Given the description of an element on the screen output the (x, y) to click on. 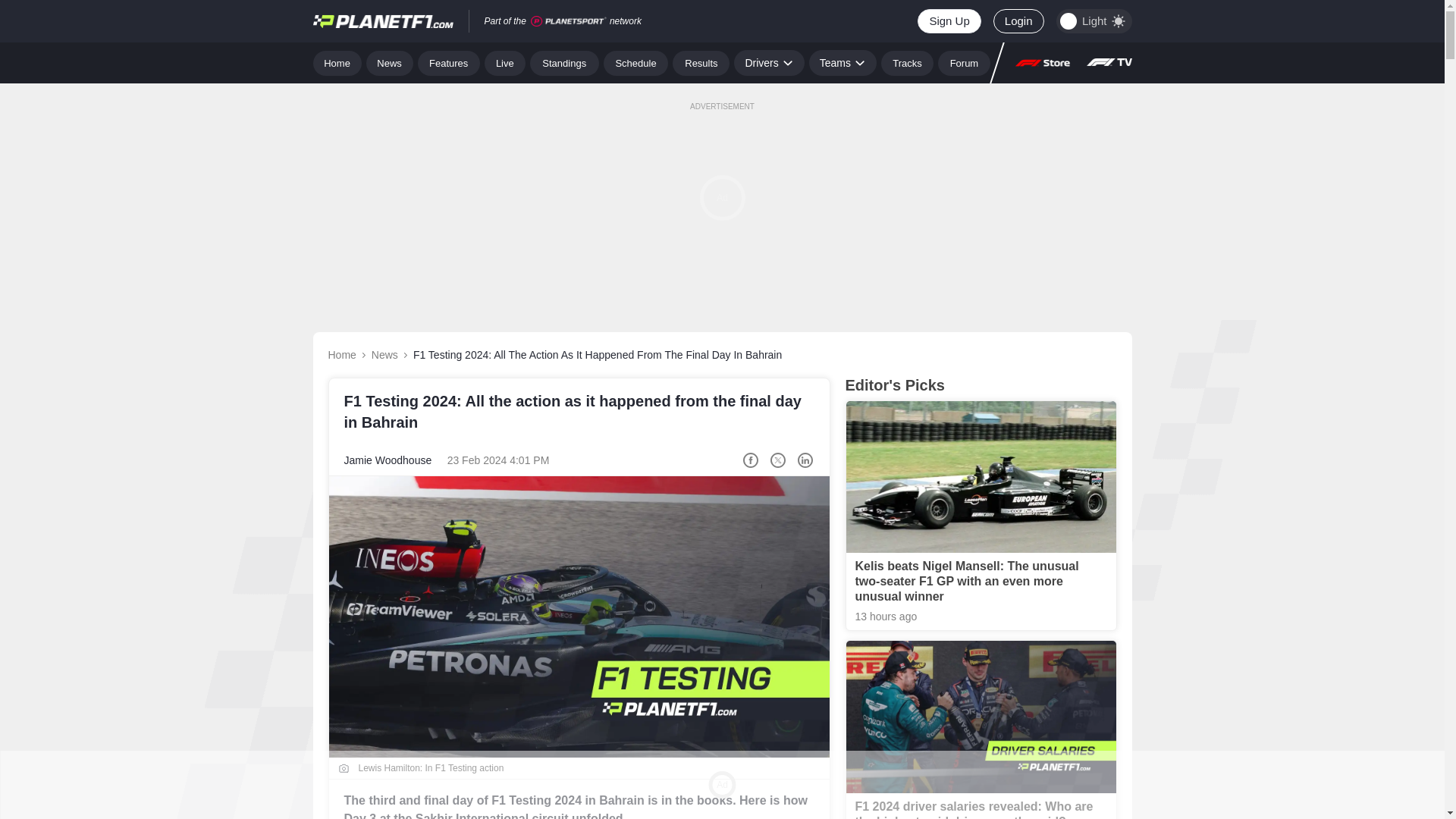
Standings (563, 62)
Sign Up (948, 21)
Home (337, 62)
Teams (842, 62)
Features (448, 62)
News (389, 62)
Results (700, 62)
Live (504, 62)
Drivers (768, 62)
Login (1017, 21)
